Given the description of an element on the screen output the (x, y) to click on. 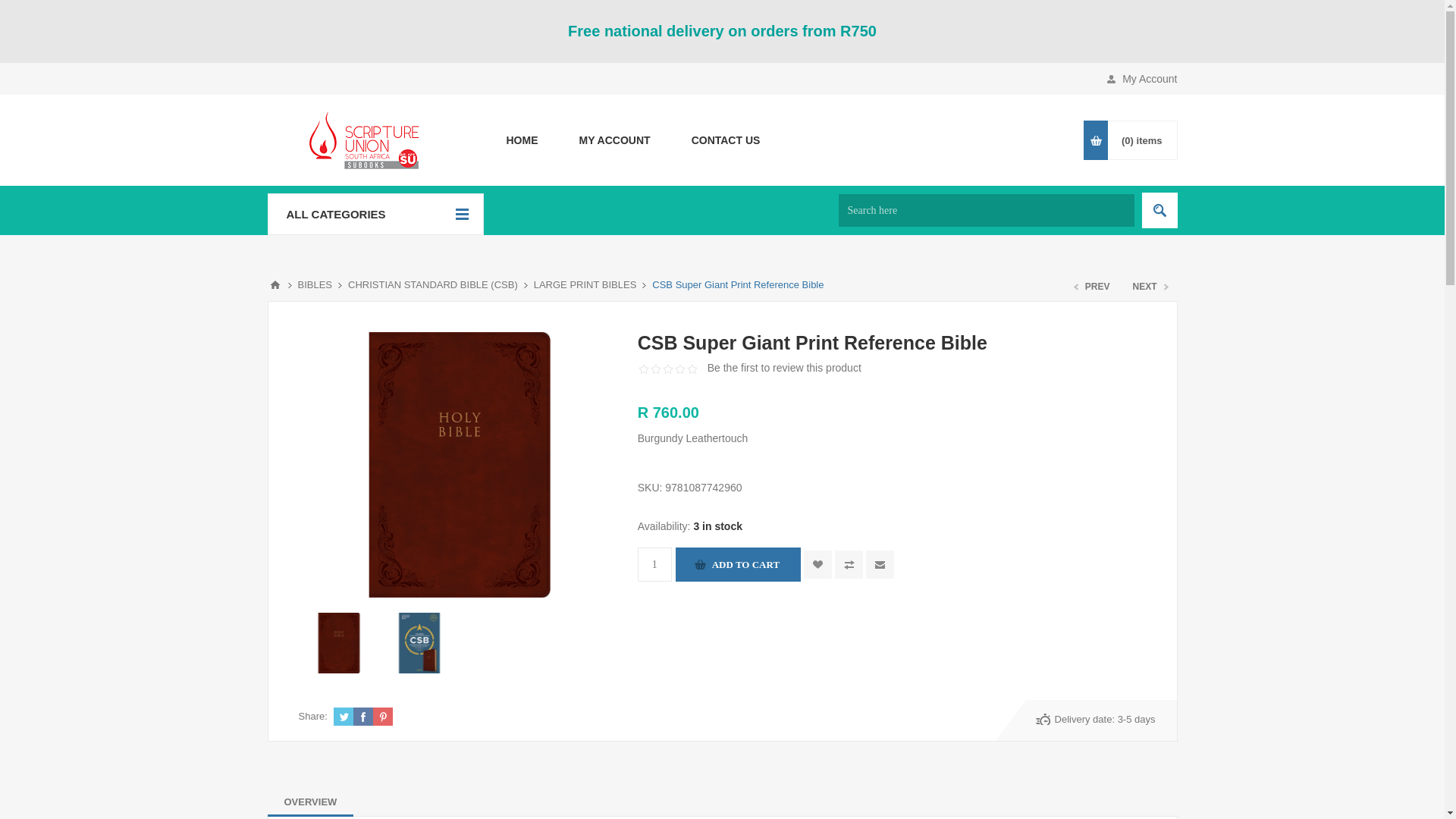
My Account (613, 139)
HOME (520, 139)
Home (520, 139)
1 (654, 564)
MY ACCOUNT (613, 139)
